Given the description of an element on the screen output the (x, y) to click on. 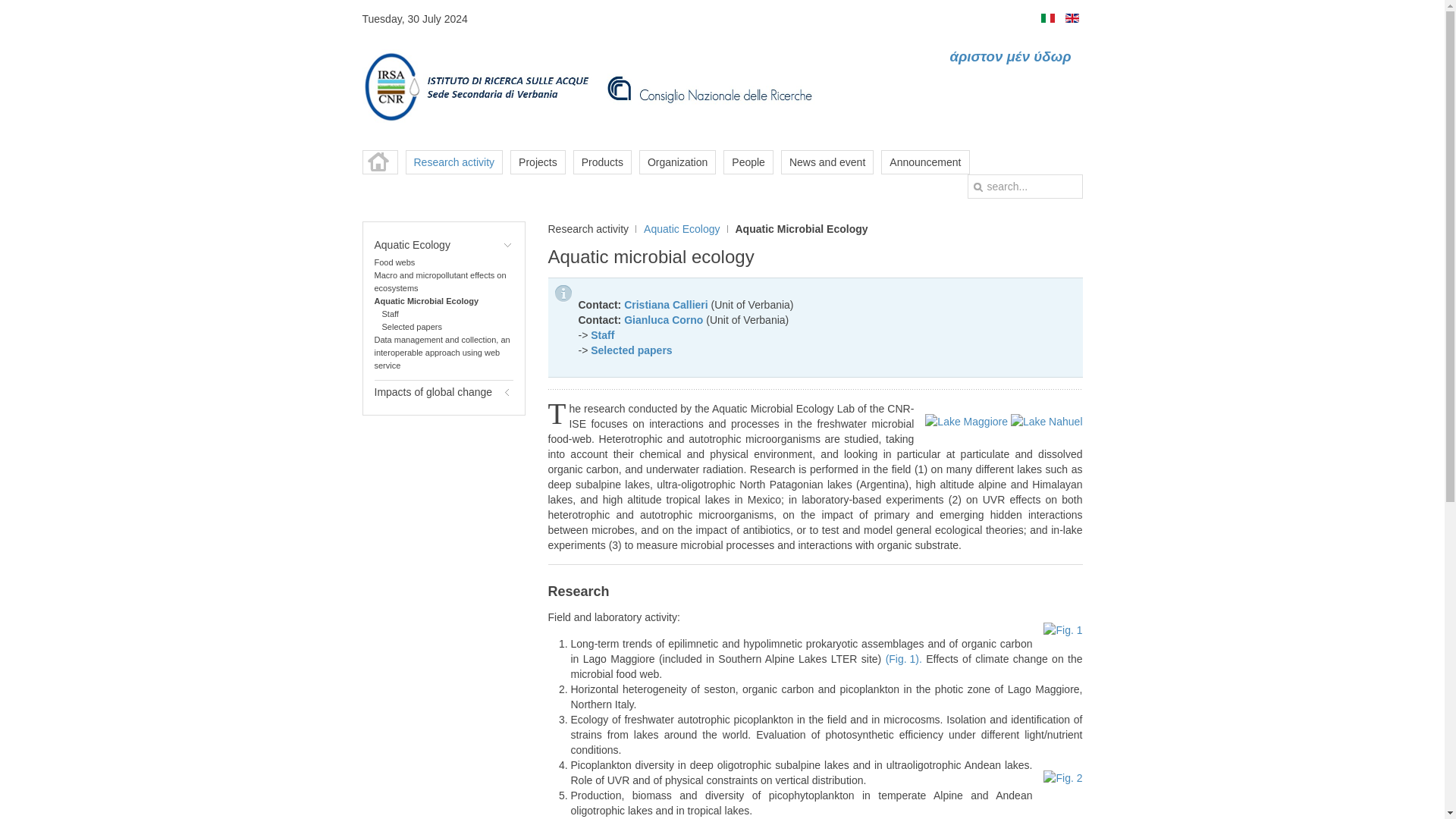
Italiano (1047, 17)
Lake Nahuel Huapi, Argentina (1046, 420)
Lake Maggiore from the tower of the Institute (965, 420)
Organization (677, 161)
